Given the description of an element on the screen output the (x, y) to click on. 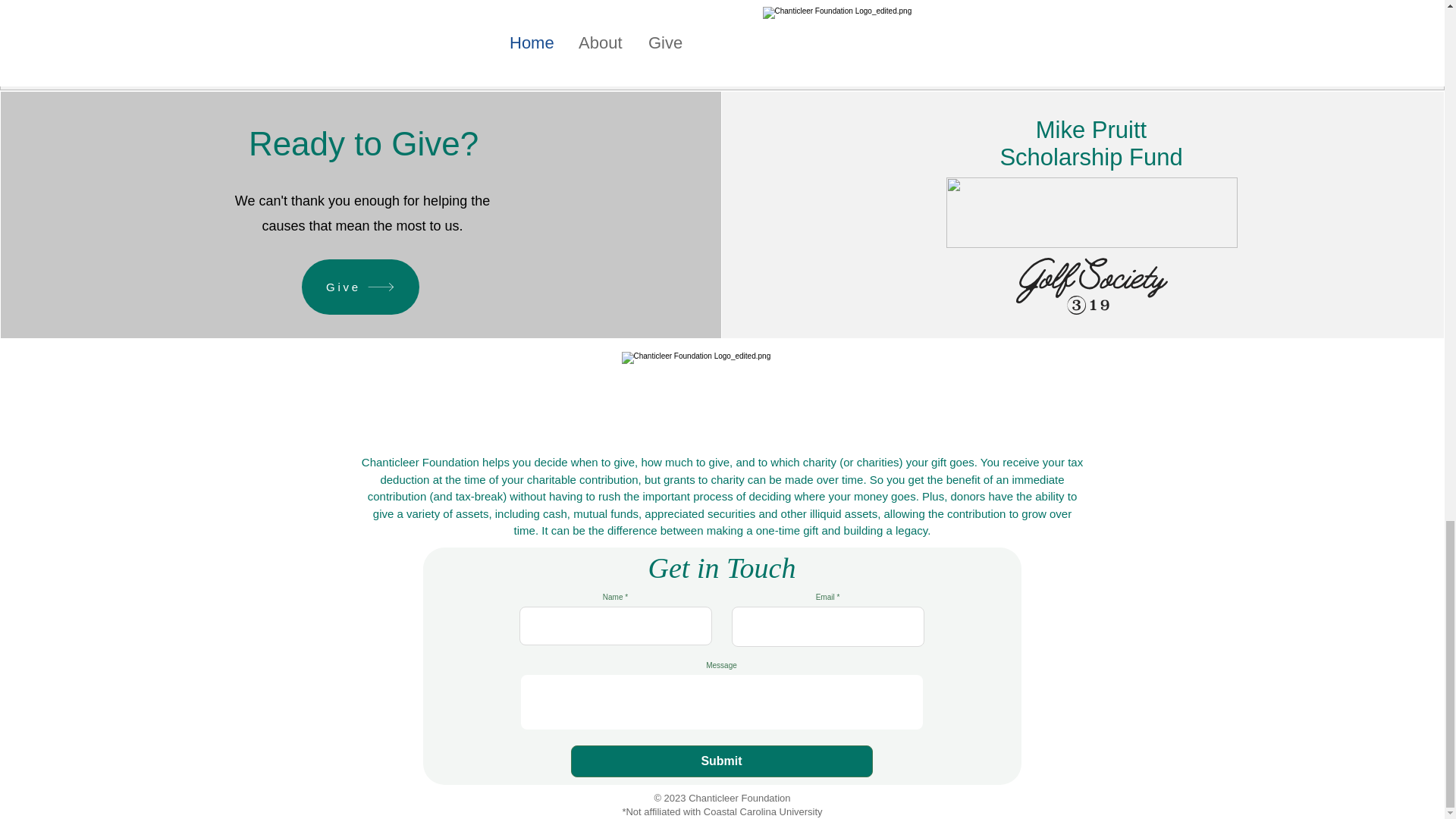
Contact Us (722, 4)
Submit (721, 761)
Give (360, 286)
